Given the description of an element on the screen output the (x, y) to click on. 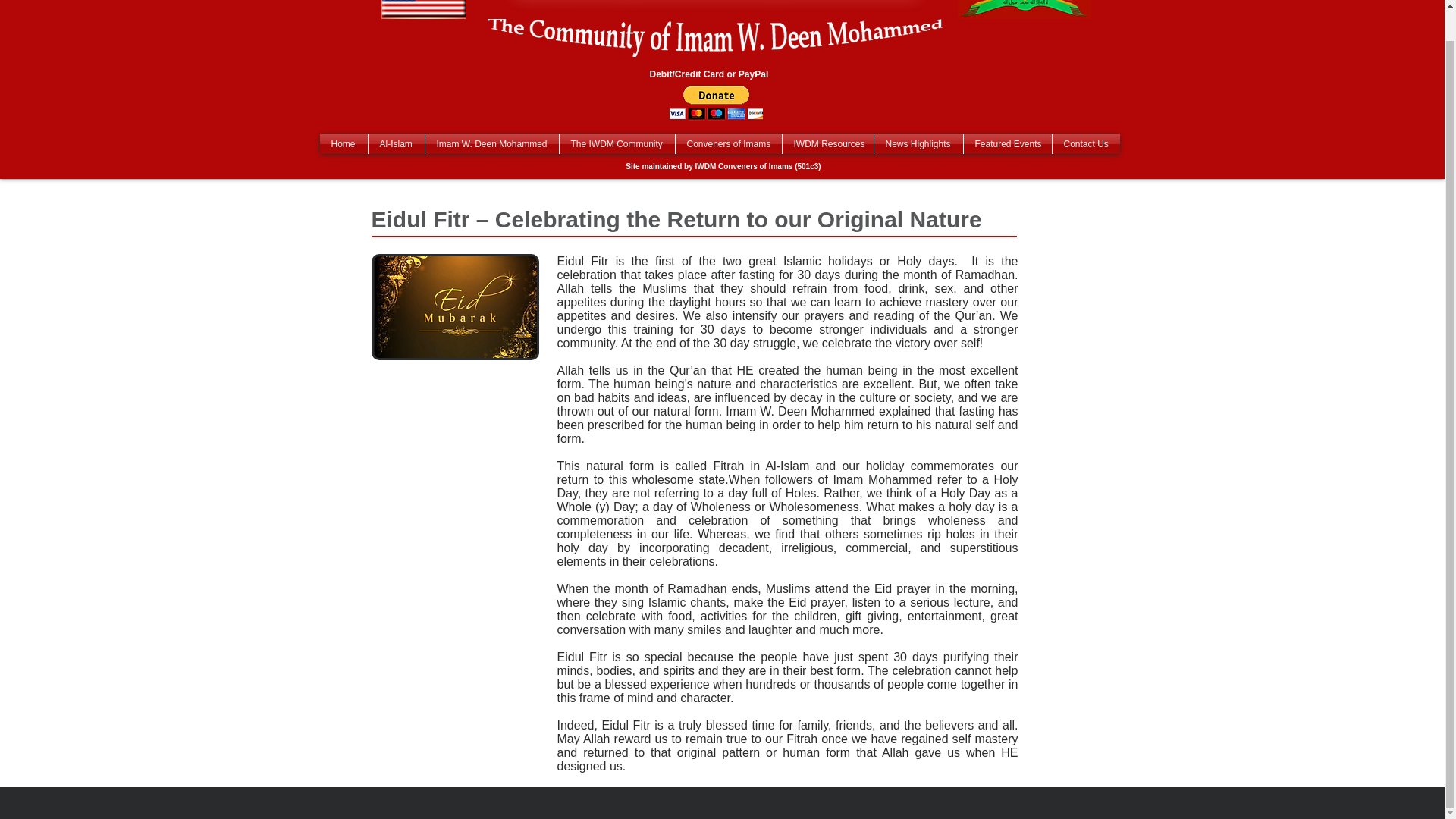
IWDM Resources (828, 143)
Imam W. Deen Mohammed (491, 143)
Al-Islam (396, 143)
Home (344, 143)
The IWDM Community (617, 143)
Conveners of Imams (727, 143)
